Given the description of an element on the screen output the (x, y) to click on. 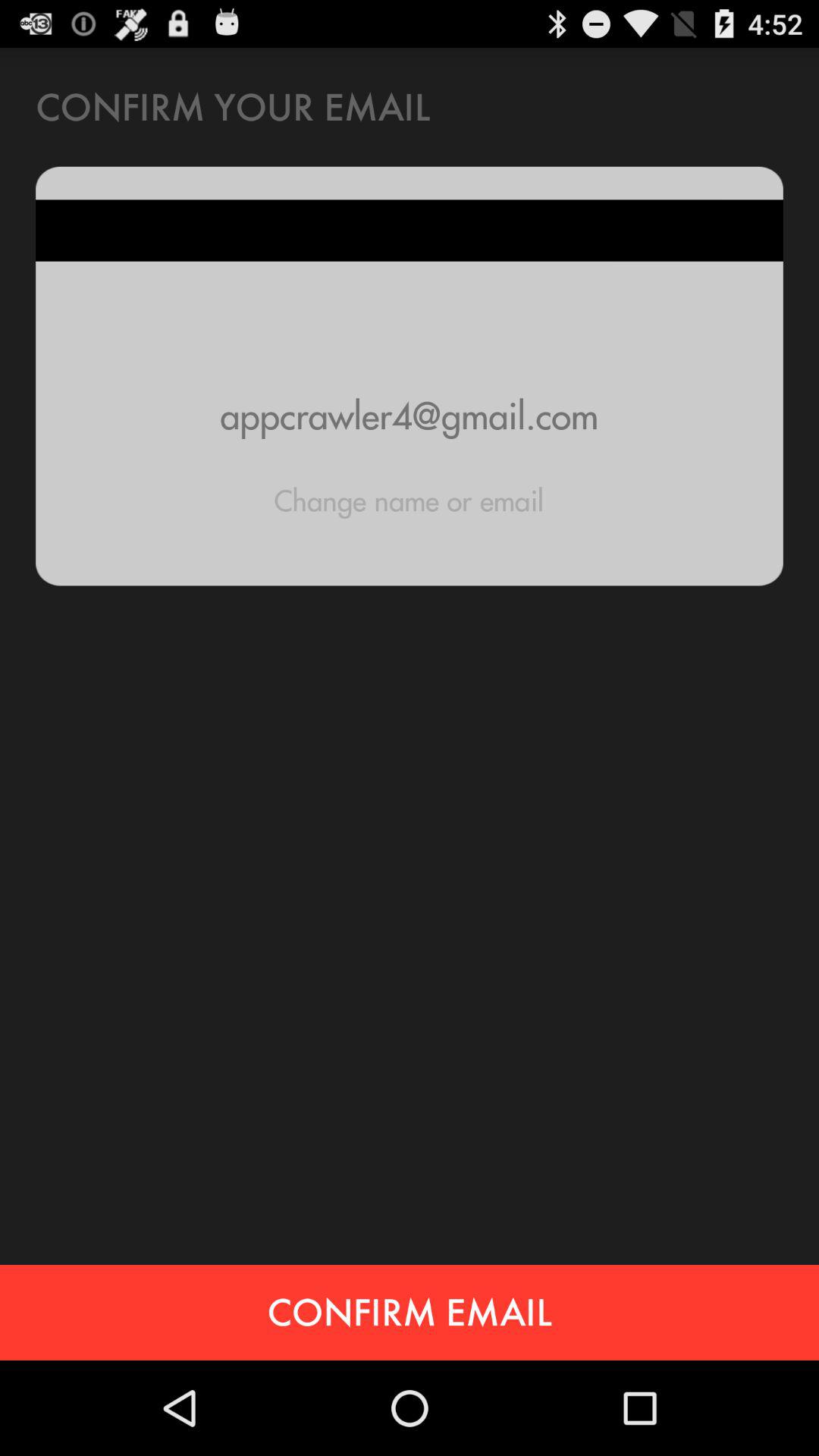
select the item below the confirm your email item (409, 415)
